Given the description of an element on the screen output the (x, y) to click on. 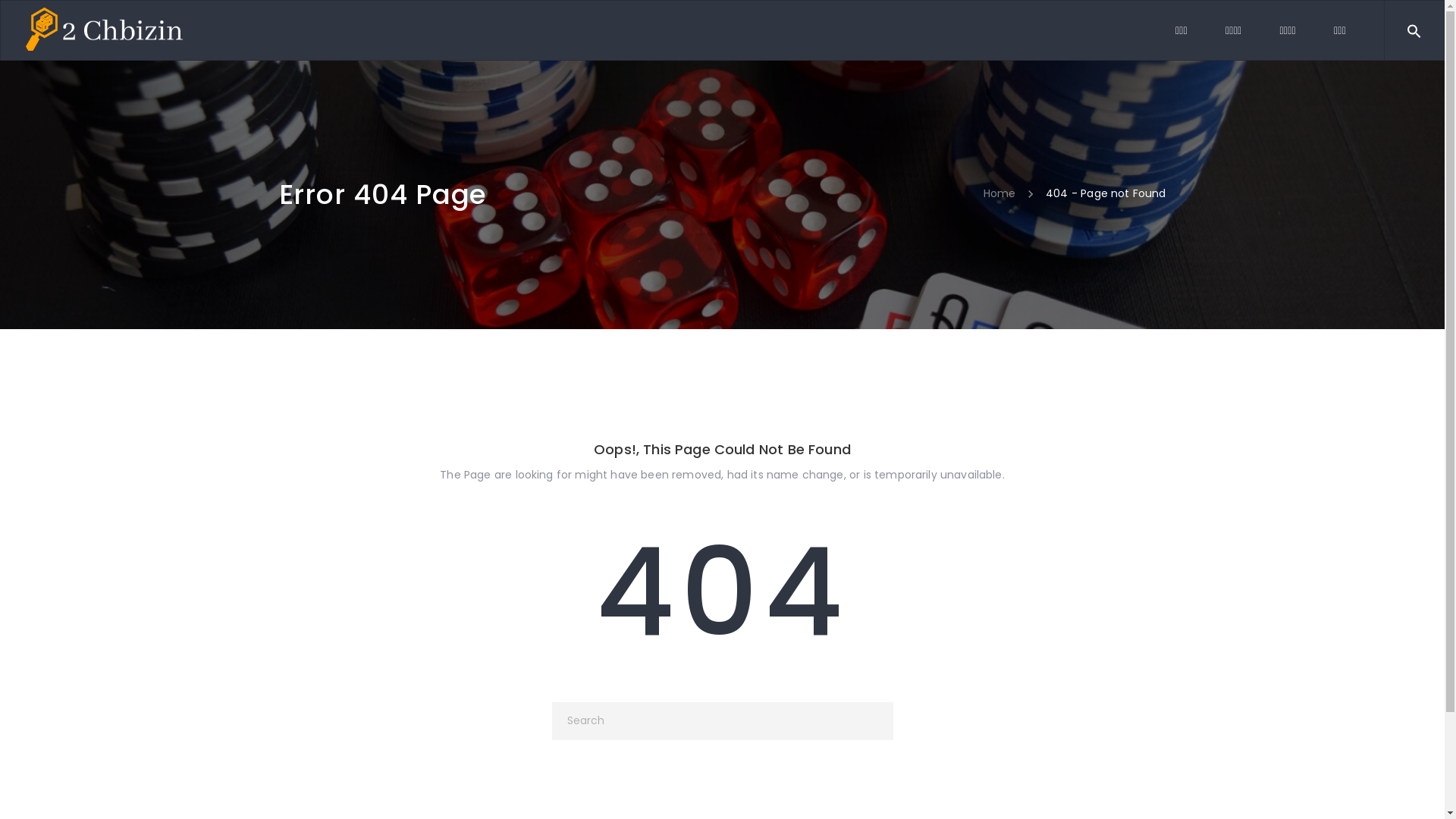
Search Element type: text (1442, 28)
Home Element type: text (999, 192)
